Given the description of an element on the screen output the (x, y) to click on. 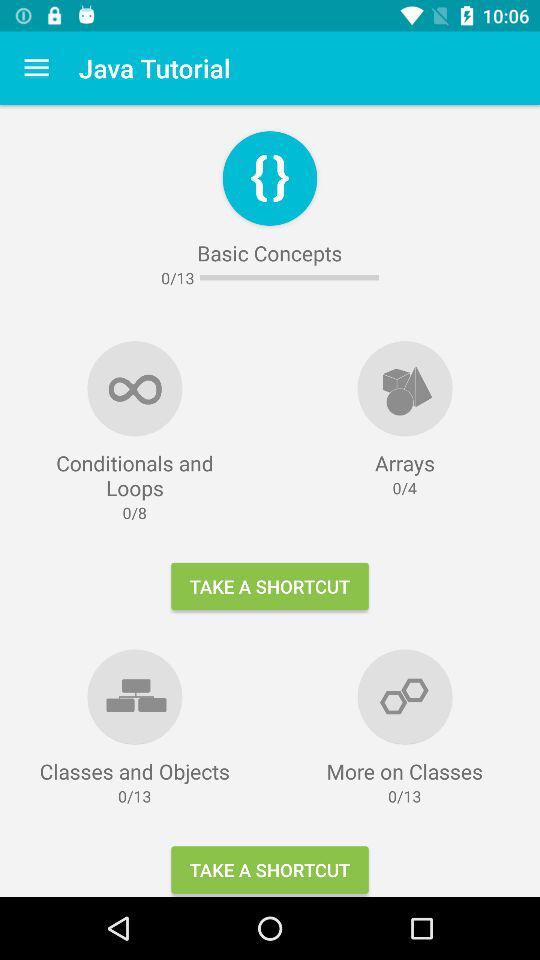
click icon to the left of java tutorial item (36, 68)
